Given the description of an element on the screen output the (x, y) to click on. 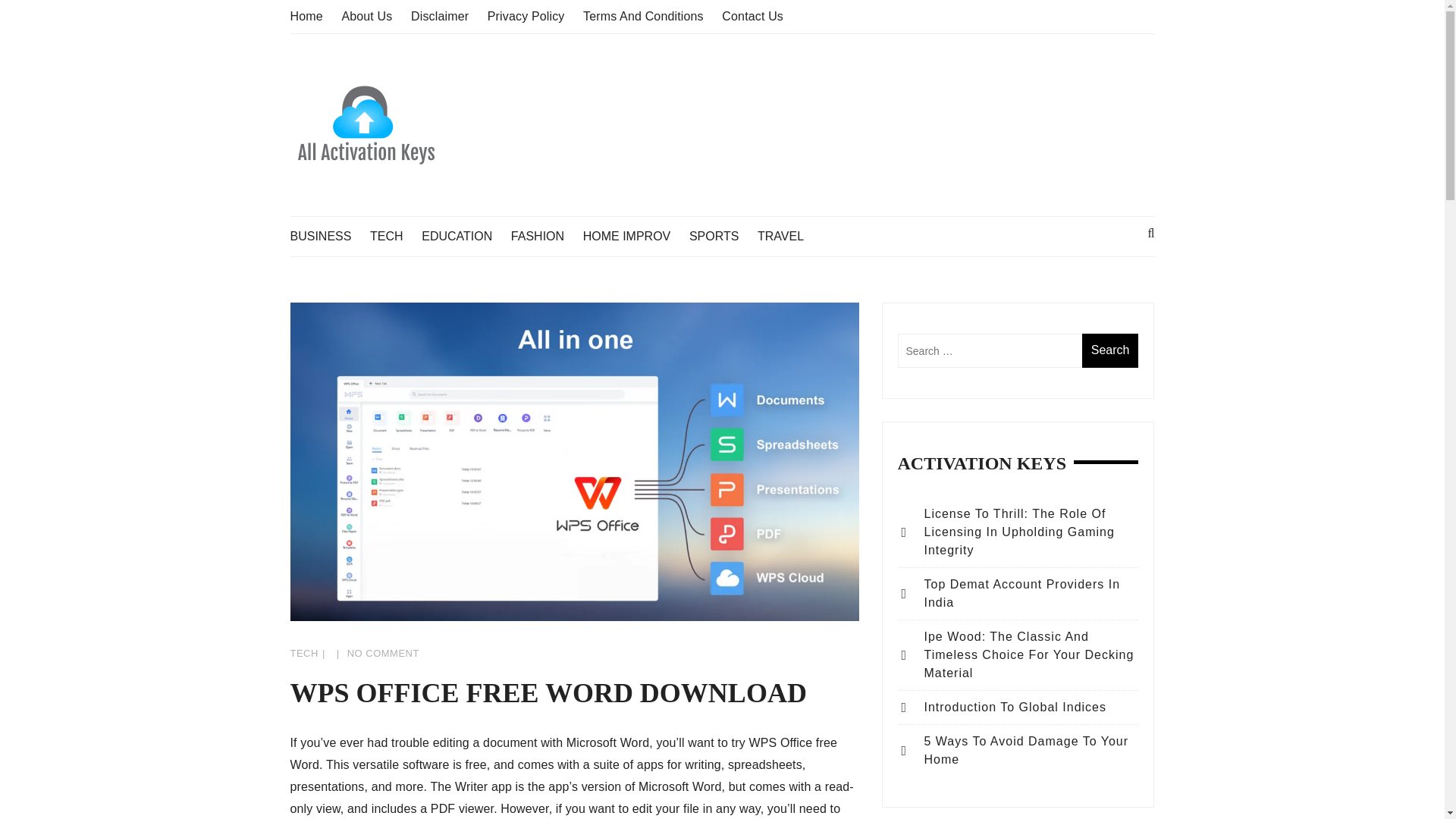
TECH (394, 236)
EDUCATION (464, 236)
SPORTS (721, 236)
TECH (303, 653)
Search (1109, 350)
About Us (365, 16)
FASHION (545, 236)
HOME IMPROV (634, 236)
Search (1109, 350)
Home (305, 16)
Terms And Conditions (643, 16)
Disclaimer (439, 16)
Contact Us (752, 16)
TRAVEL (787, 236)
Privacy Policy (525, 16)
